Given the description of an element on the screen output the (x, y) to click on. 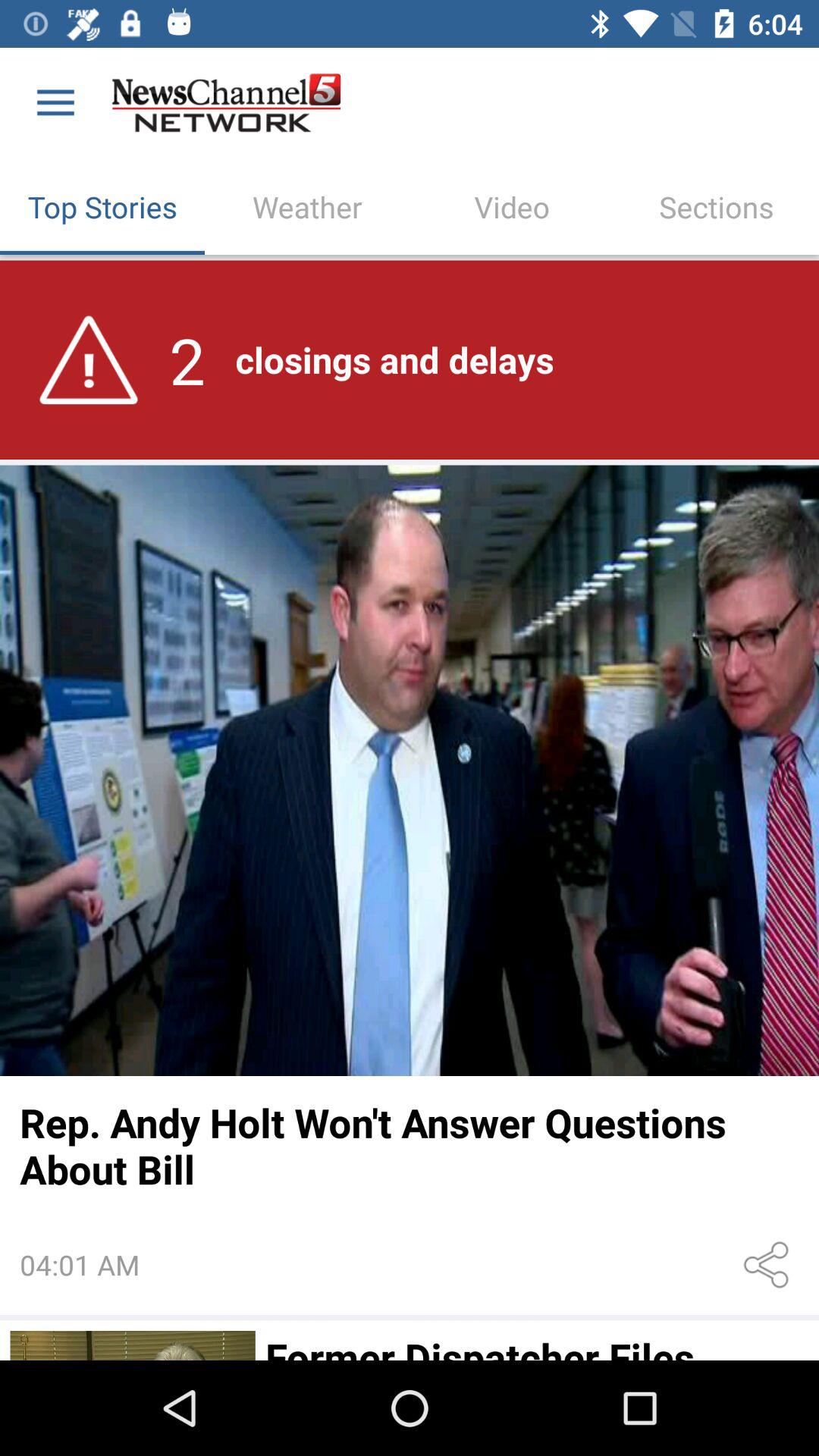
view full story (409, 770)
